Given the description of an element on the screen output the (x, y) to click on. 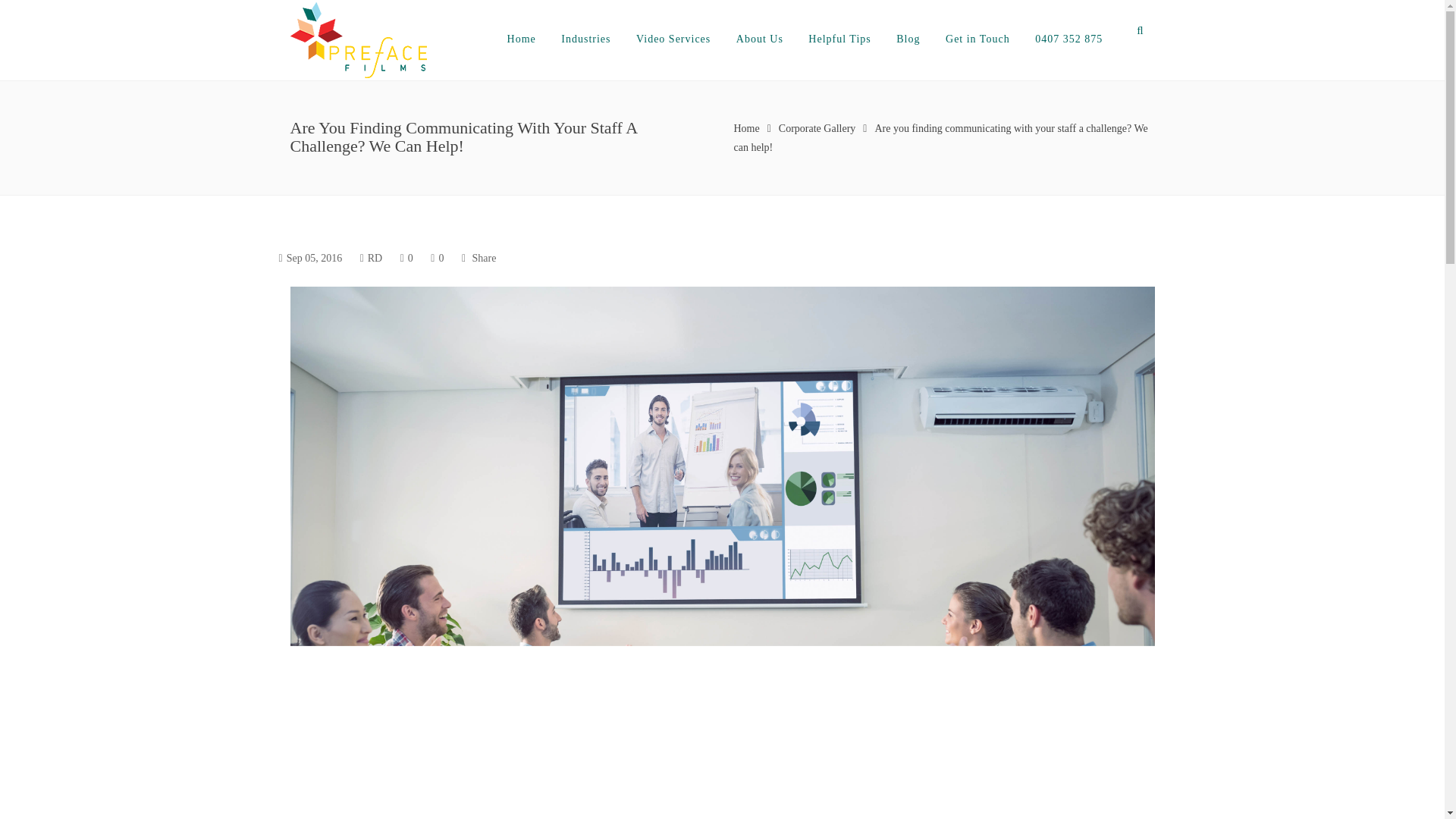
0407 352 875 (1068, 39)
View all posts date Sep 05, 2016 (314, 257)
Video Services (673, 39)
Helpful Tips (839, 39)
Love this (437, 257)
Get in Touch (977, 39)
Posts by RD (374, 257)
